Given the description of an element on the screen output the (x, y) to click on. 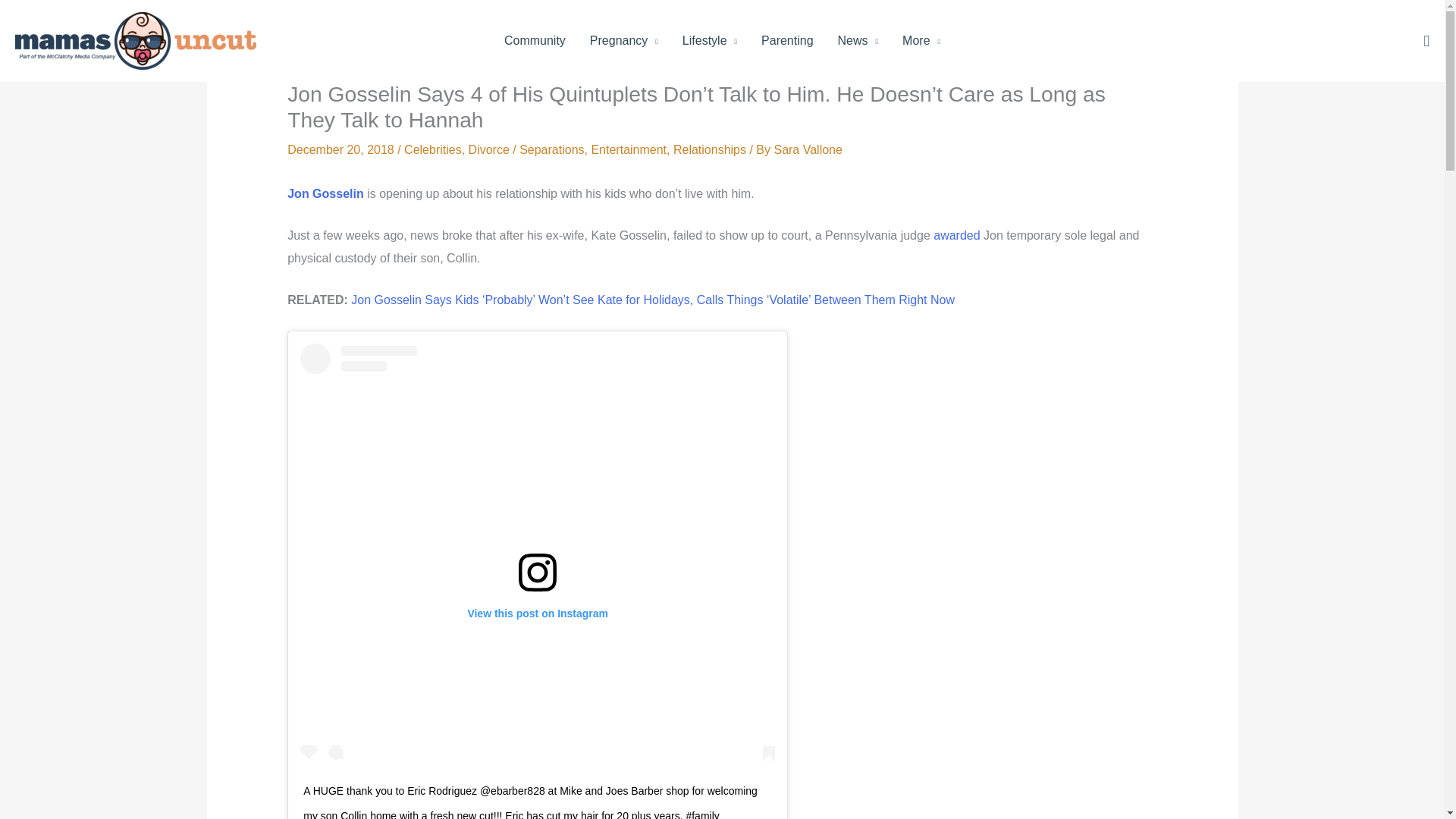
Community (535, 40)
More (920, 40)
Pregnancy (623, 40)
Parenting (787, 40)
News (858, 40)
View all posts by Sara Vallone (807, 149)
Lifestyle (709, 40)
